Given the description of an element on the screen output the (x, y) to click on. 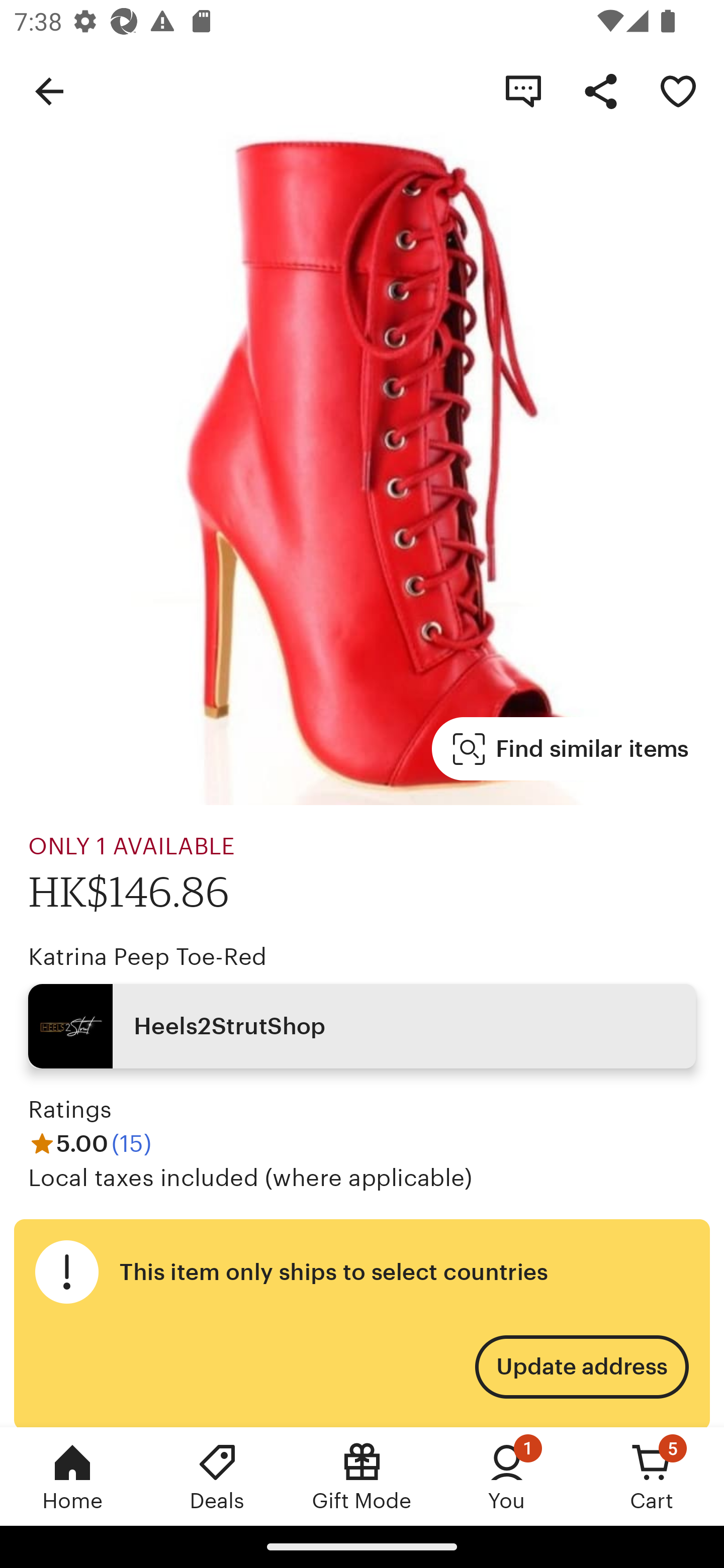
Navigate up (49, 90)
Contact shop (523, 90)
Share (600, 90)
Remove Katrina Peep Toe-Red from your favorites (678, 90)
Find similar items (571, 748)
Katrina Peep Toe-Red (147, 956)
Heels2StrutShop (361, 1025)
Ratings (70, 1109)
5.00 (15) (89, 1143)
Update address (581, 1366)
Deals (216, 1475)
Gift Mode (361, 1475)
You, 1 new notification You (506, 1475)
Cart, 5 new notifications Cart (651, 1475)
